Given the description of an element on the screen output the (x, y) to click on. 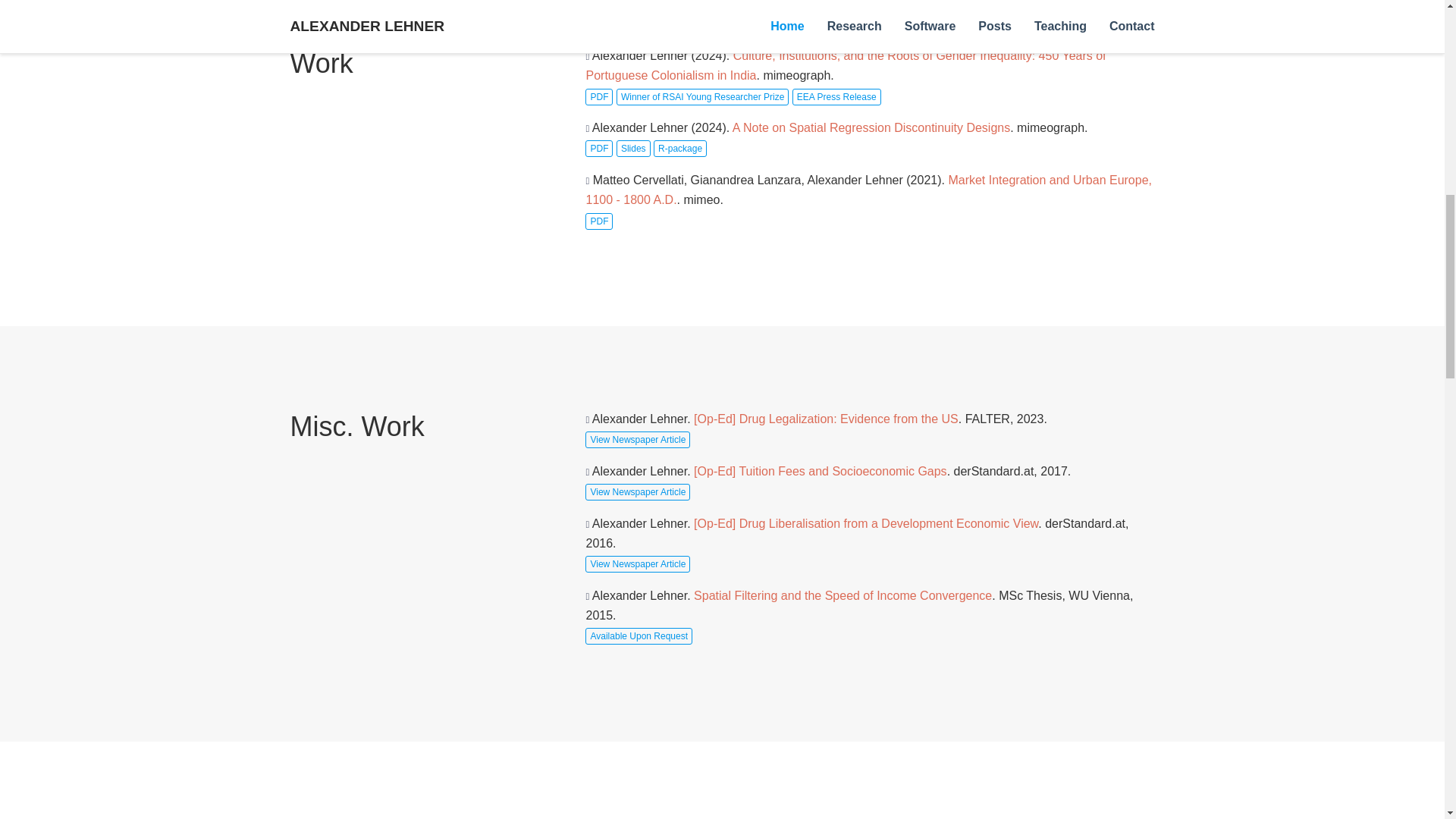
PDF (598, 221)
PDF (598, 96)
View Newspaper Article (637, 564)
EEA Press Release (836, 96)
Slides (632, 148)
PDF (598, 148)
R-package (679, 148)
Spatial Filtering and the Speed of Income Convergence (842, 594)
A Note on Spatial Regression Discontinuity Designs (871, 127)
View Newspaper Article (637, 492)
Winner of RSAI Young Researcher Prize (702, 96)
Market Integration and Urban Europe, 1100 - 1800 A.D. (868, 189)
View Newspaper Article (637, 439)
Available Upon Request (639, 636)
